Given the description of an element on the screen output the (x, y) to click on. 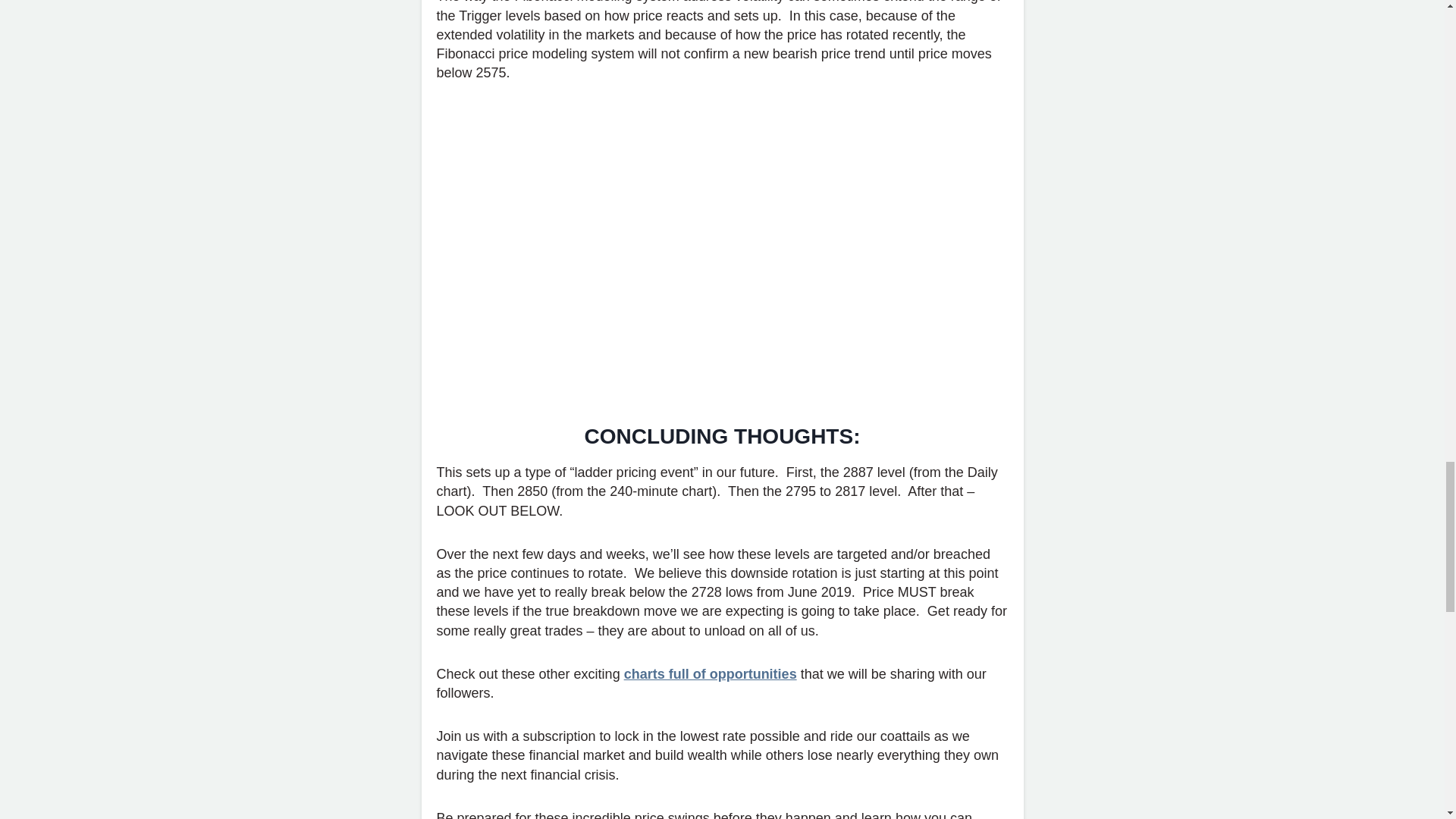
charts full of opportunities (710, 673)
